Given the description of an element on the screen output the (x, y) to click on. 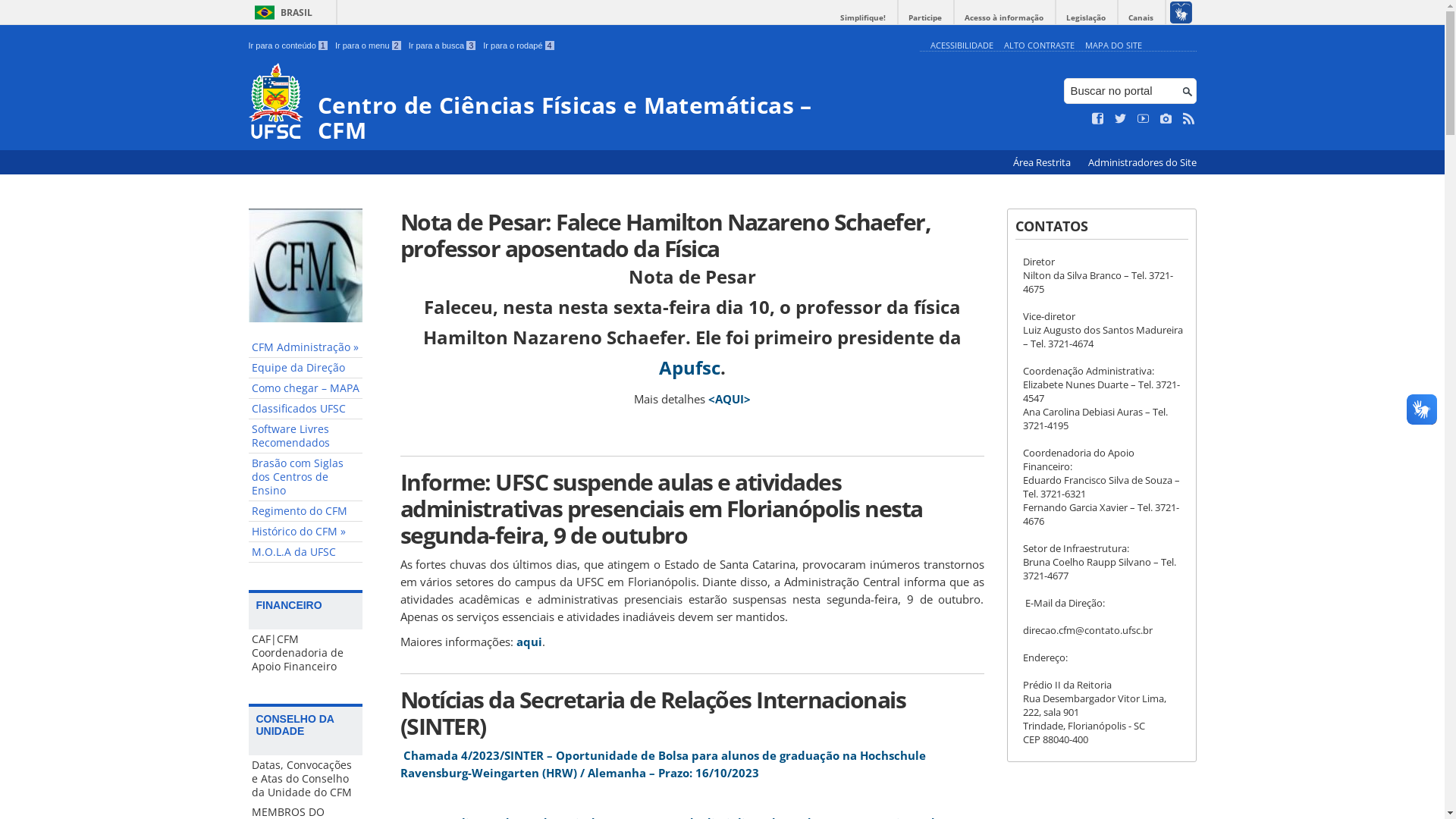
Curta no Facebook Element type: hover (1098, 118)
aqui Element type: text (528, 641)
Administradores do Site Element type: text (1141, 162)
MAPA DO SITE Element type: text (1112, 44)
Ir para o menu 2 Element type: text (368, 45)
Classificados UFSC Element type: text (305, 408)
<AQUI> Element type: text (729, 398)
Software Livres Recomendados Element type: text (305, 436)
M.O.L.A da UFSC Element type: text (305, 552)
Participe Element type: text (924, 18)
Regimento do CFM Element type: text (305, 511)
Siga no Twitter Element type: hover (1120, 118)
Ir para a busca 3 Element type: text (442, 45)
Canais Element type: text (1140, 18)
CAF|CFM Coordenadoria de Apoio Financeiro Element type: text (305, 652)
ACESSIBILIDADE Element type: text (960, 44)
Apufsc Element type: text (688, 366)
Veja no Instagram Element type: hover (1166, 118)
ALTO CONTRASTE Element type: text (1039, 44)
BRASIL Element type: text (280, 12)
Simplifique! Element type: text (862, 18)
